Given the description of an element on the screen output the (x, y) to click on. 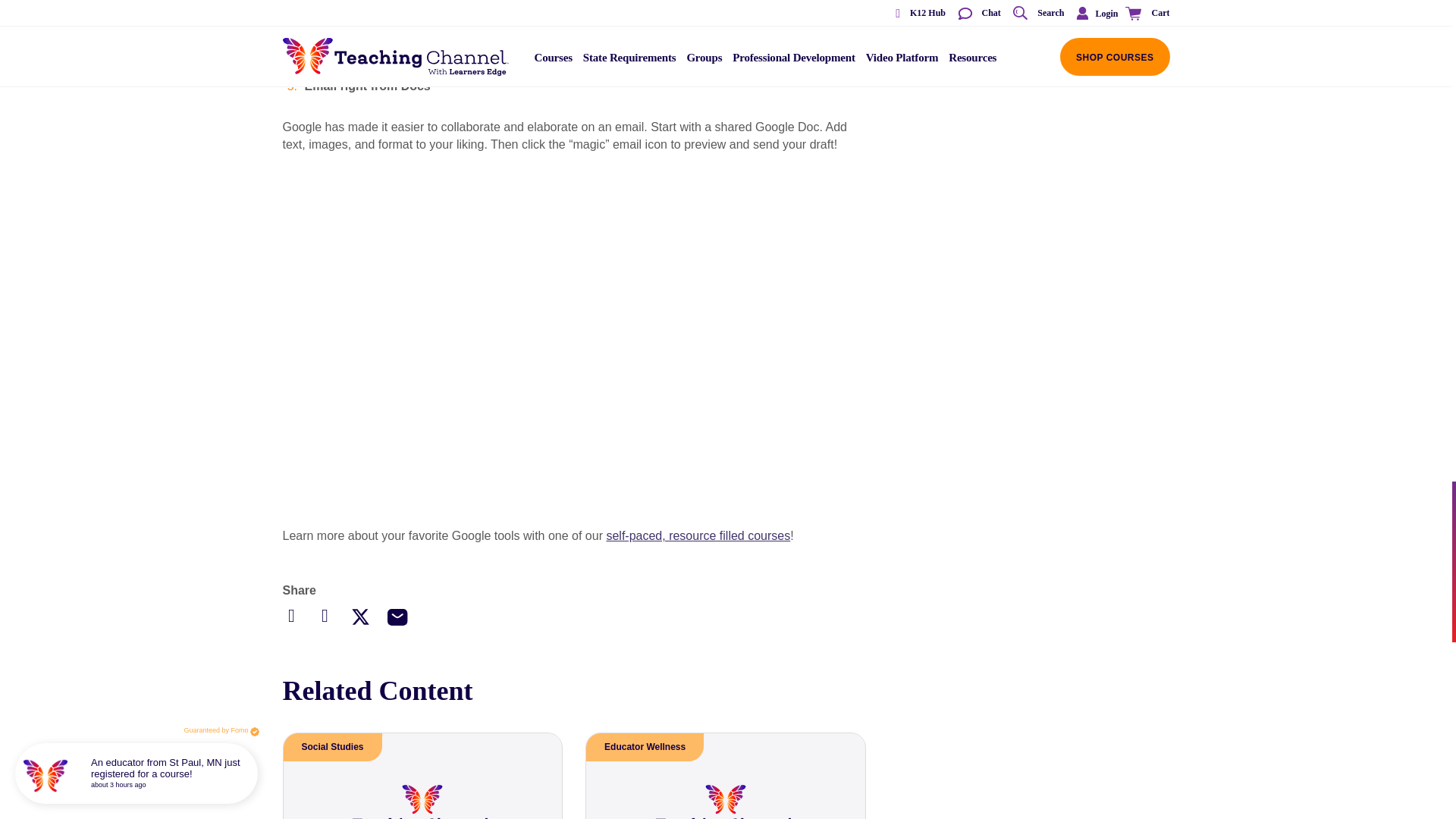
YouTube video player (573, 27)
